Given the description of an element on the screen output the (x, y) to click on. 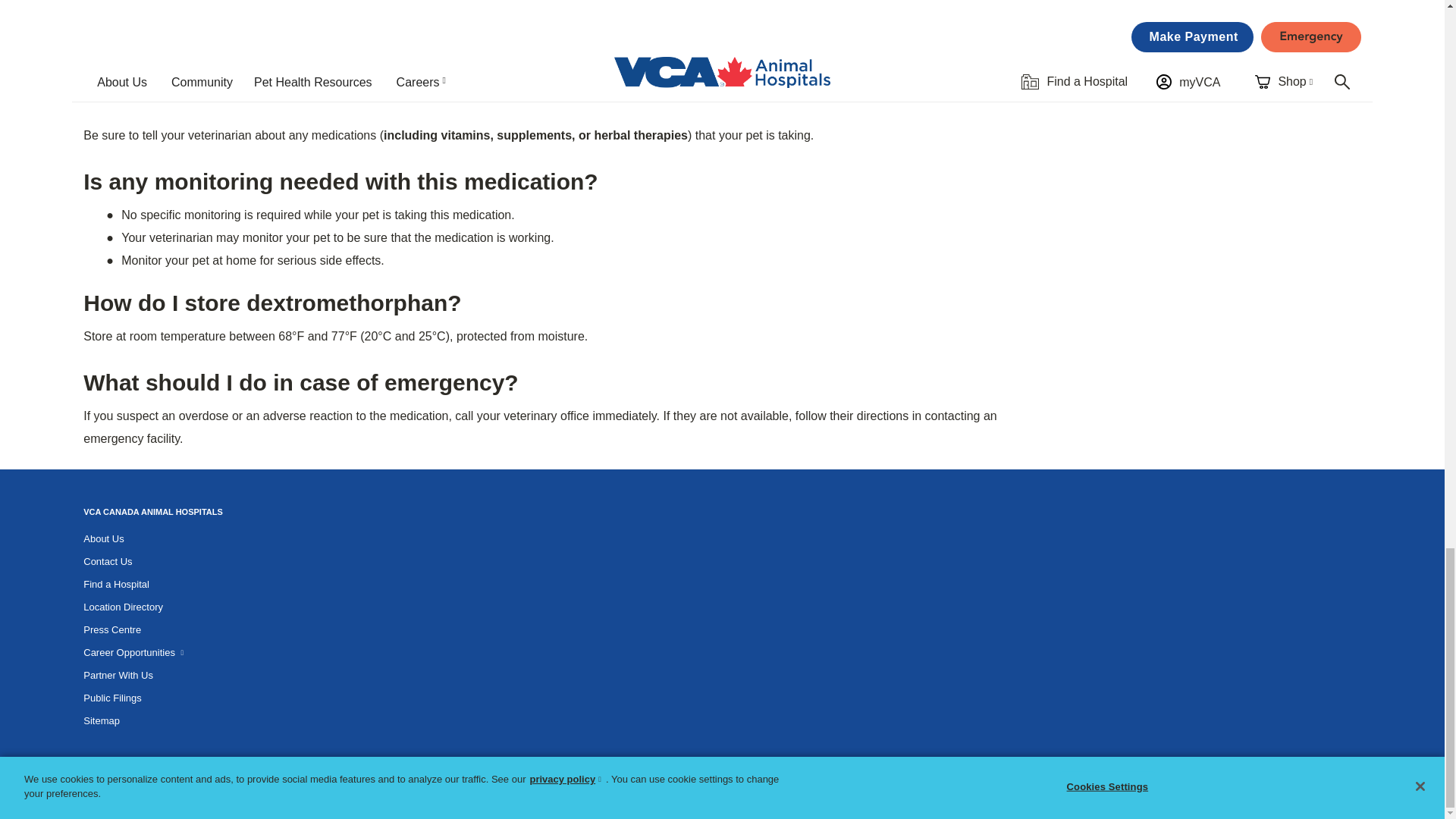
About Us (102, 538)
VCA CANADA ANIMAL HOSPITALS (152, 511)
Contact Us (107, 561)
